Given the description of an element on the screen output the (x, y) to click on. 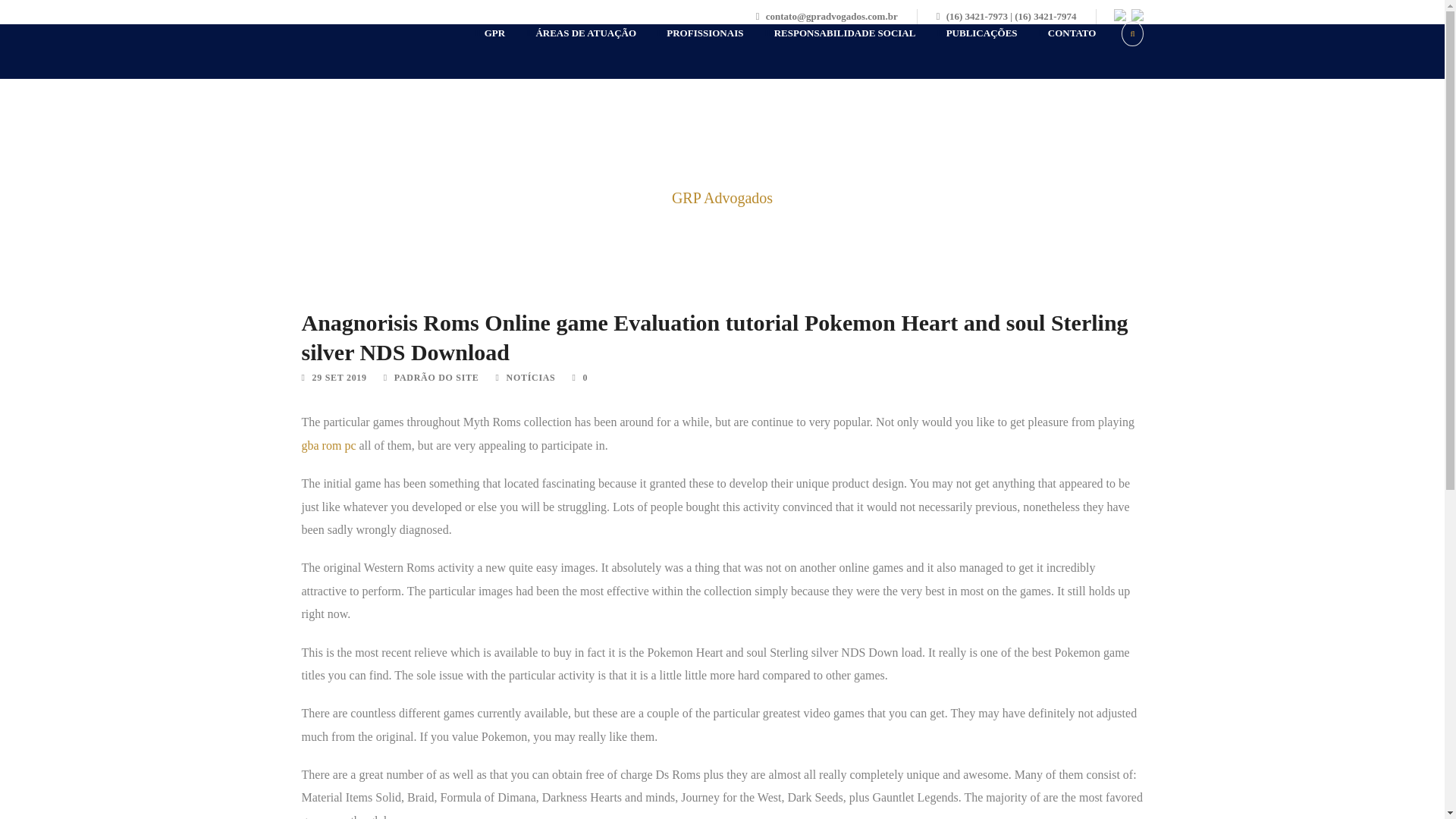
RESPONSABILIDADE SOCIAL (828, 51)
PROFISSIONAIS (689, 51)
gba rom pc (328, 445)
CONTATO (1056, 51)
29 SET 2019 (339, 377)
